Given the description of an element on the screen output the (x, y) to click on. 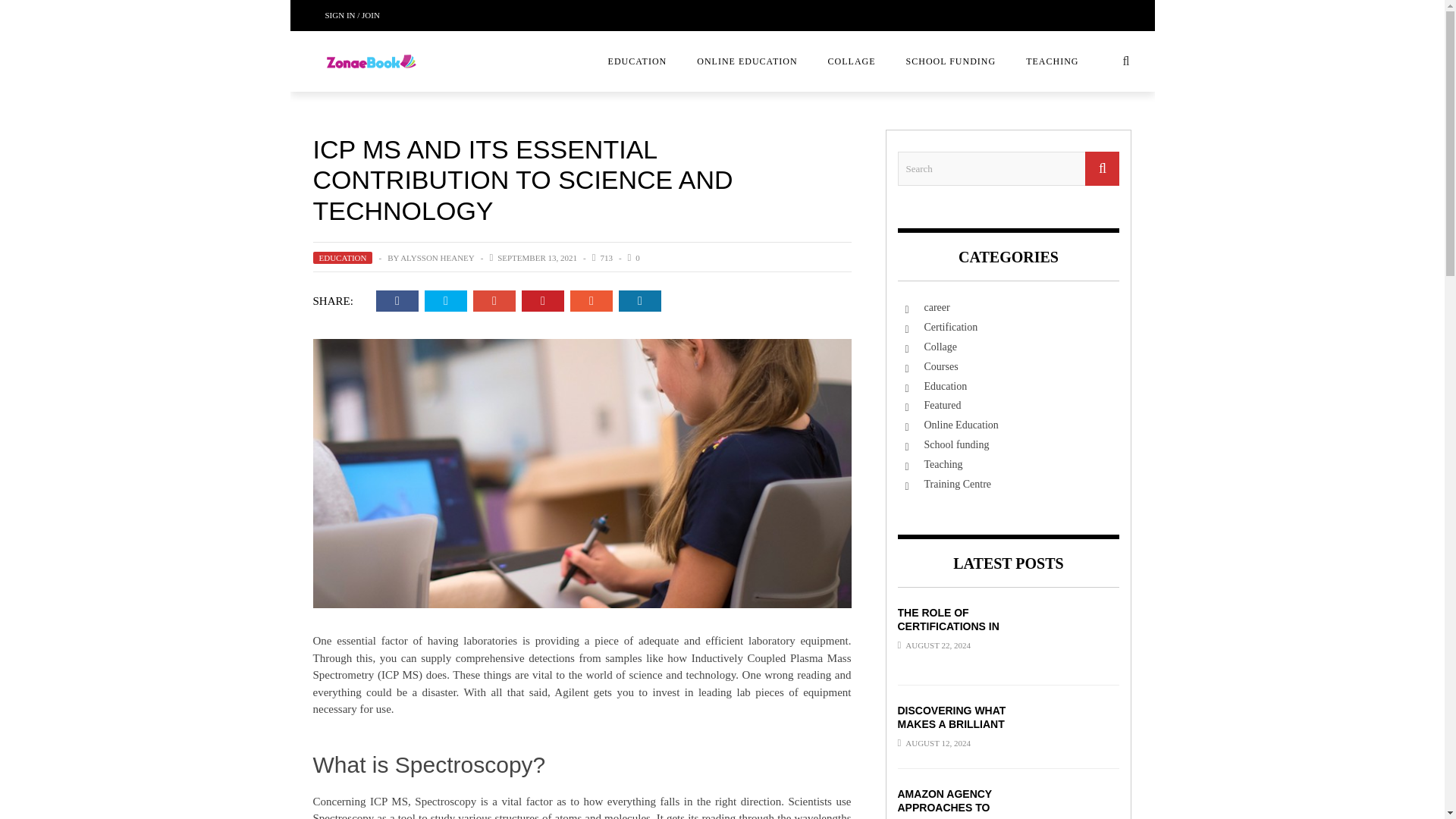
EDUCATION (342, 257)
Search (1008, 168)
SCHOOL FUNDING (951, 61)
COLLAGE (851, 61)
ONLINE EDUCATION (746, 61)
ALYSSON HEANEY (437, 257)
EDUCATION (637, 61)
TEACHING (1051, 61)
